Given the description of an element on the screen output the (x, y) to click on. 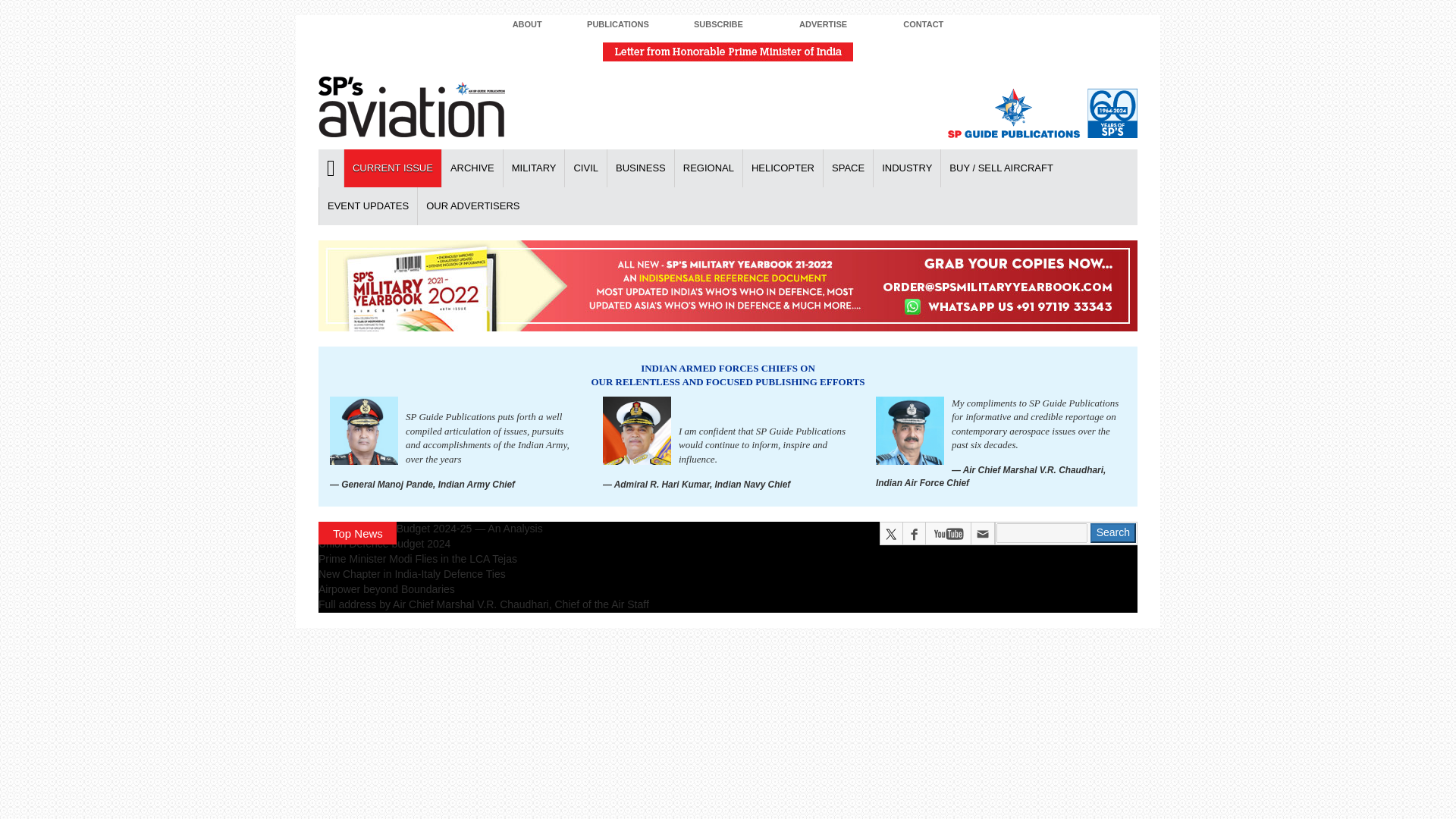
CURRENT ISSUE (392, 168)
SPACE (847, 168)
Search (1112, 532)
CIVIL (585, 168)
BUSINESS (640, 168)
SUBSCRIBE (718, 25)
ARCHIVE (471, 168)
PUBLICATIONS (617, 25)
HELICOPTER (782, 168)
CONTACT (922, 25)
